Given the description of an element on the screen output the (x, y) to click on. 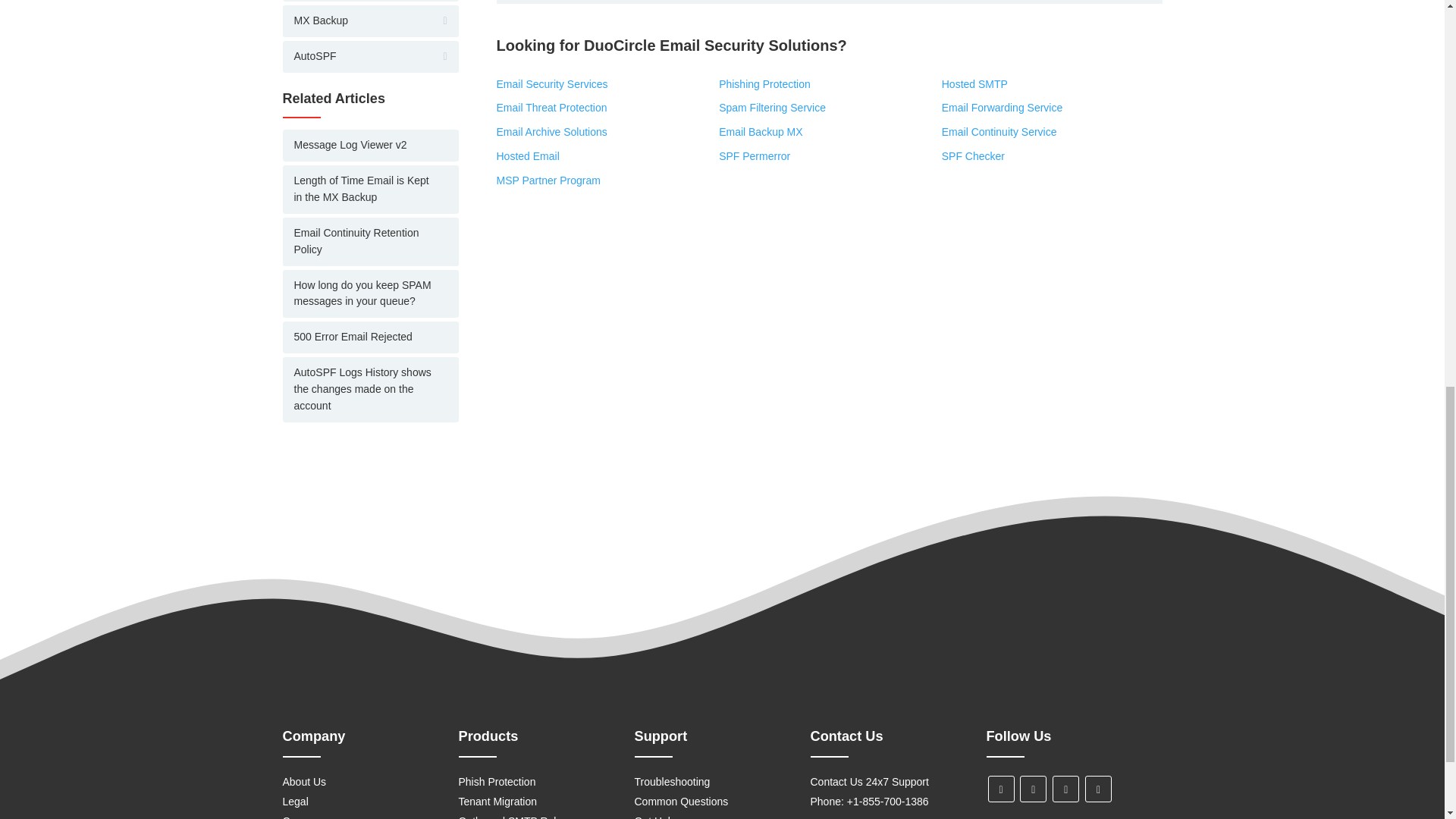
Phishing Protection (764, 83)
Email Archive Solutions (551, 132)
Spam Filtering Service (772, 107)
Message Log Viewer v2 (370, 145)
Hosted SMTP (974, 83)
How long do you keep SPAM messages in your queue? (370, 294)
Email Continuity Retention Policy (370, 241)
500 Error Email Rejected (370, 336)
Email Backup MX (760, 132)
